Given the description of an element on the screen output the (x, y) to click on. 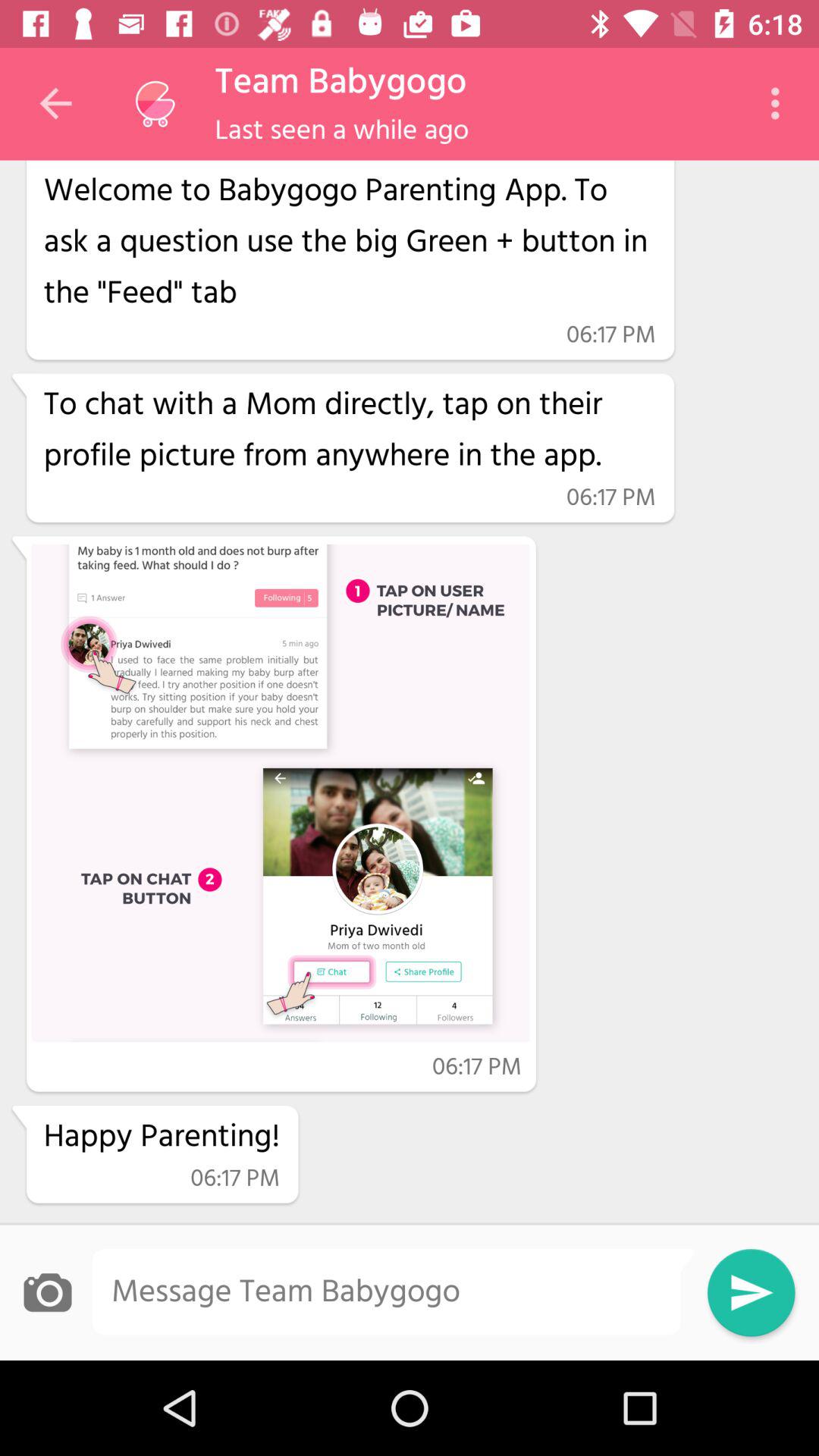
launch team babygogo icon (340, 82)
